Given the description of an element on the screen output the (x, y) to click on. 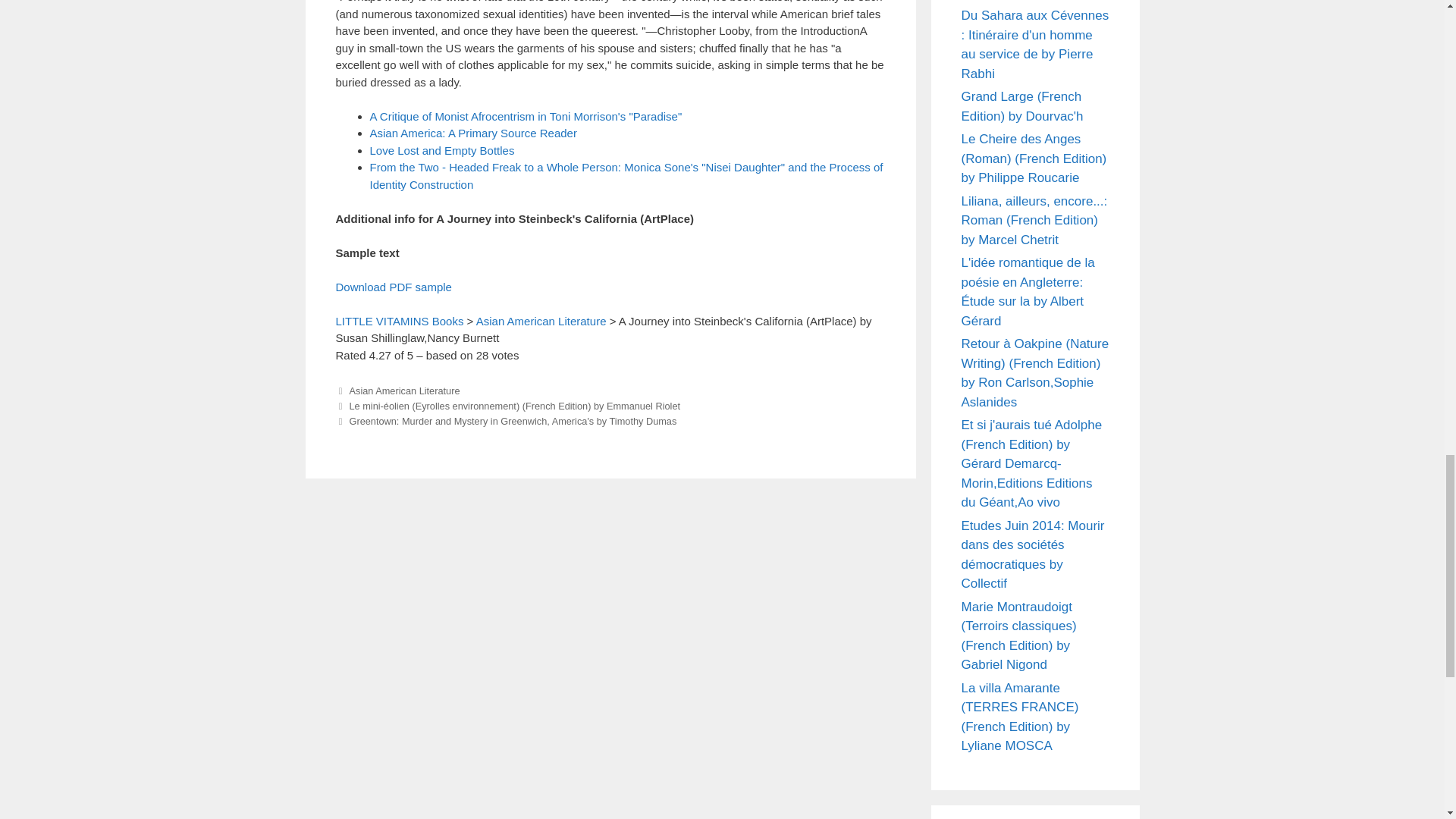
Love Lost and Empty Bottles (442, 150)
Download PDF sample (392, 286)
Go to LITTLE VITAMINS Books. (398, 319)
Previous (506, 405)
Go to the Asian American Literature category archives. (541, 319)
Asian American Literature (404, 390)
Next (505, 420)
LITTLE VITAMINS Books (398, 319)
